Given the description of an element on the screen output the (x, y) to click on. 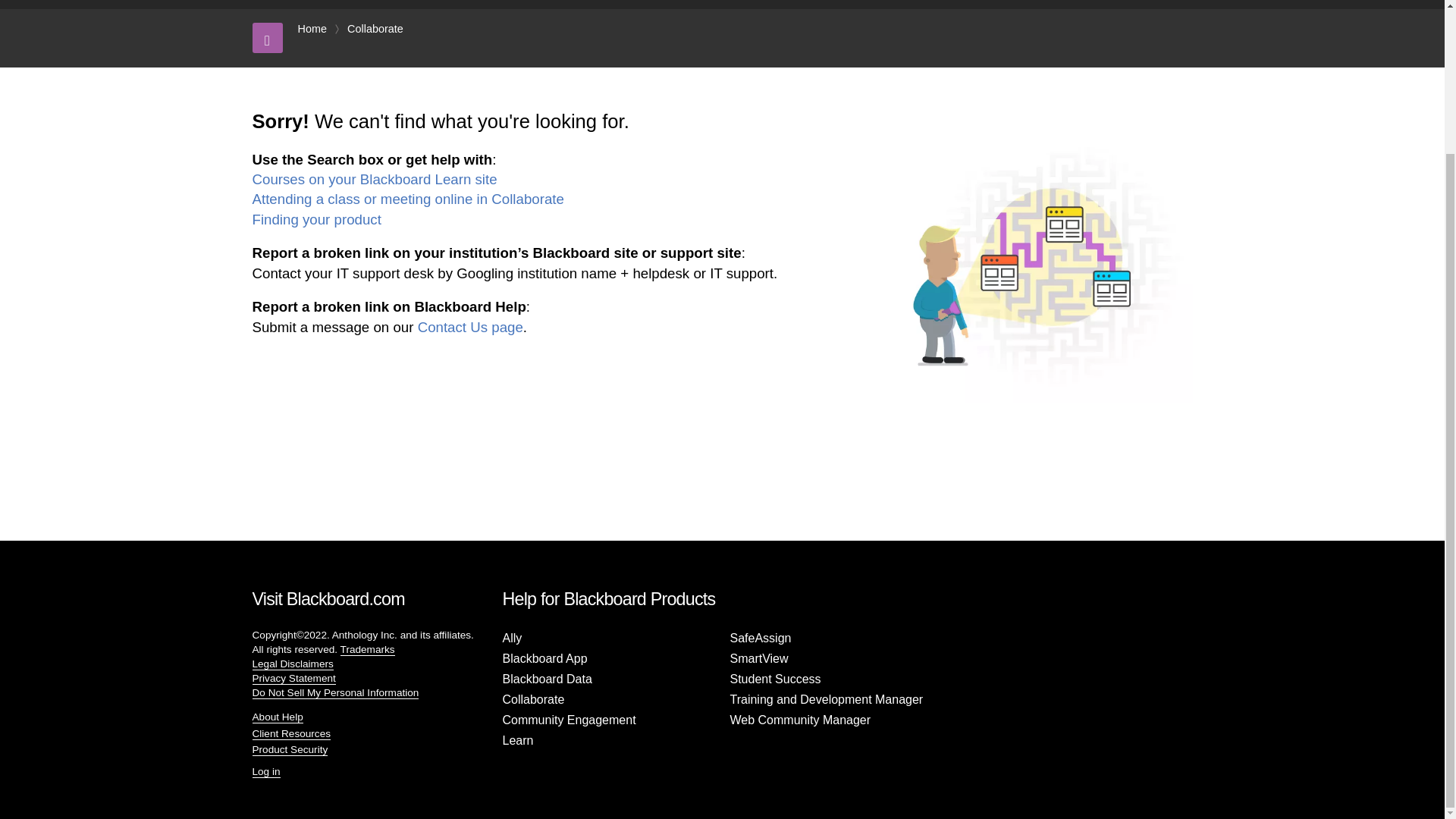
Home (311, 28)
Collaborate (375, 28)
